Given the description of an element on the screen output the (x, y) to click on. 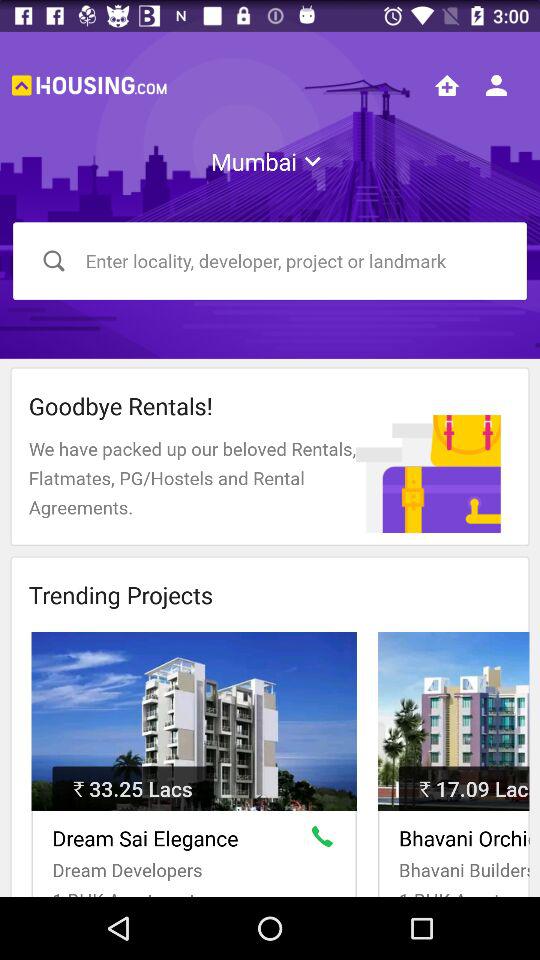
open the icon next to dream sai elegance (326, 840)
